Given the description of an element on the screen output the (x, y) to click on. 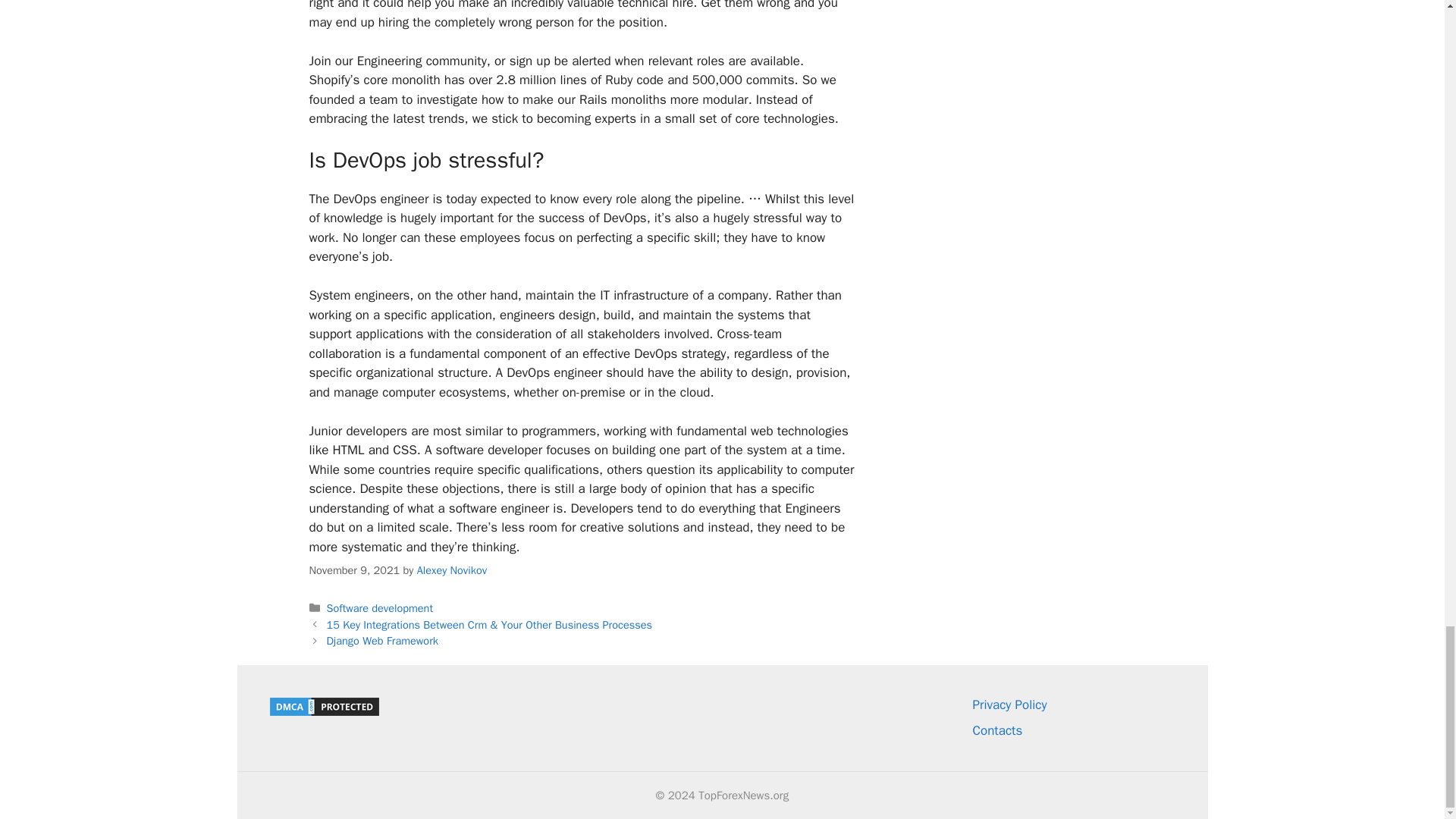
DMCA.com Protection Status (323, 713)
Privacy Policy (1009, 704)
Django Web Framework (382, 640)
Previous (489, 624)
Next (382, 640)
Software development (379, 608)
Alexey Novikov (451, 570)
Contacts (997, 730)
View all posts by Alexey Novikov (451, 570)
